Given the description of an element on the screen output the (x, y) to click on. 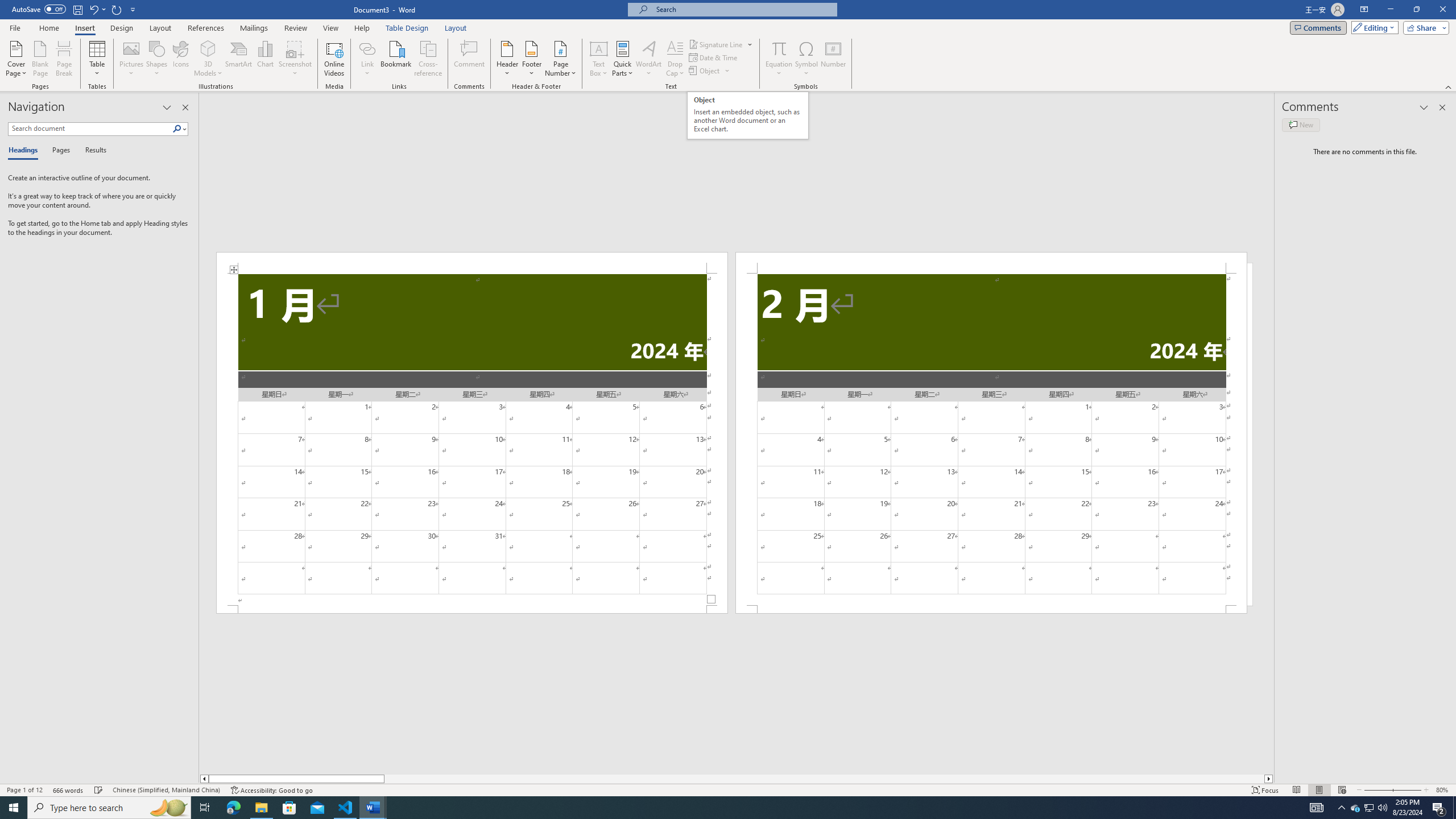
Undo Increase Indent (92, 9)
Signature Line (721, 44)
Class: NetUIScrollBar (736, 778)
WordArt (648, 58)
Search document (89, 128)
Page Number (560, 58)
Language Chinese (Simplified, Mainland China) (165, 790)
Header -Section 2- (991, 263)
Number... (833, 58)
